Given the description of an element on the screen output the (x, y) to click on. 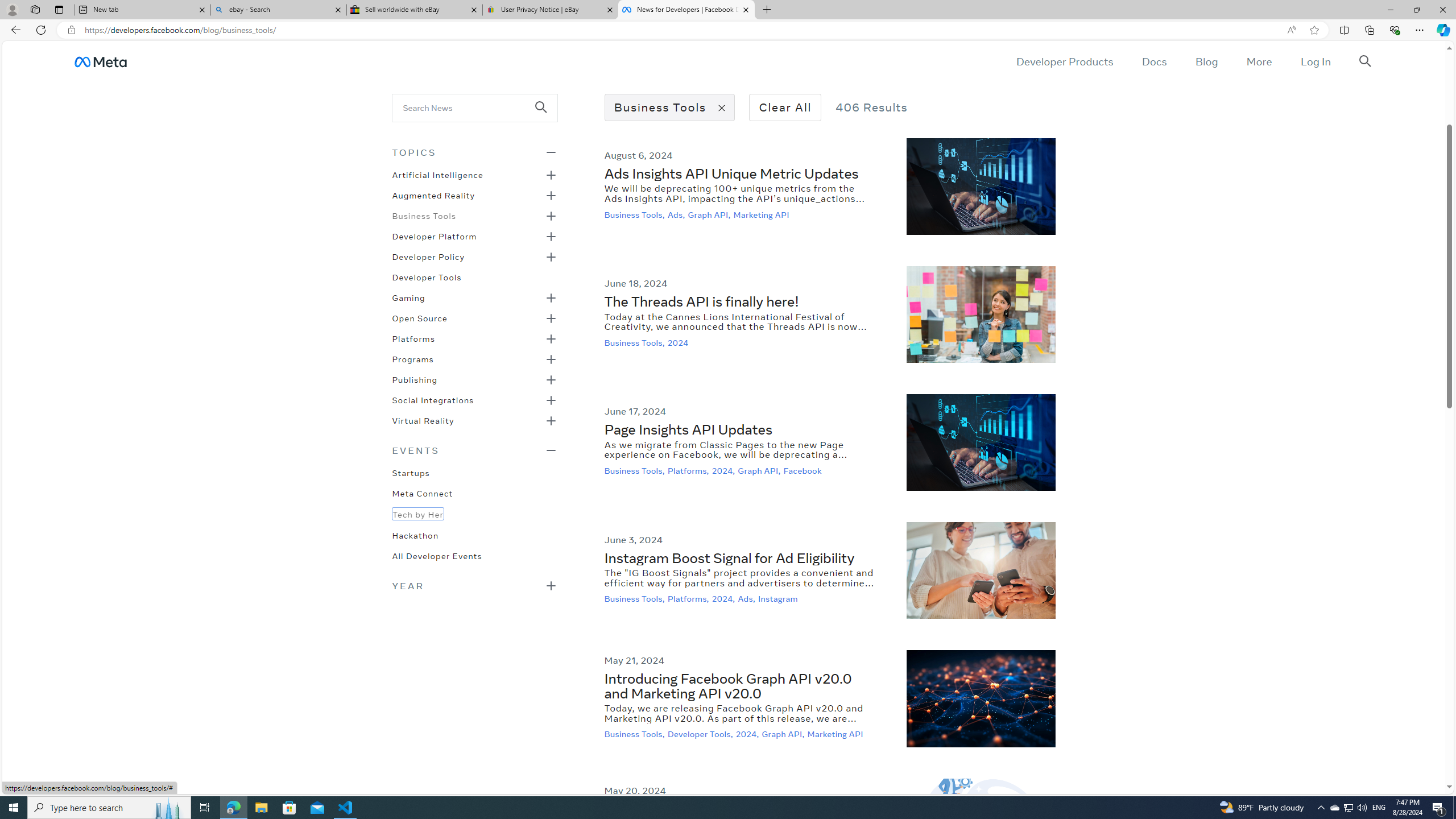
AutomationID: u_0_4z_2S (100, 61)
Virtual Reality (422, 419)
2024, (748, 733)
Docs (1153, 61)
Social Integrations (432, 399)
Log In (1315, 61)
Class: _98ce (545, 115)
Log In (1315, 61)
Blog (1205, 61)
Class: _9890 _98ez (474, 585)
Blog (1205, 61)
